Given the description of an element on the screen output the (x, y) to click on. 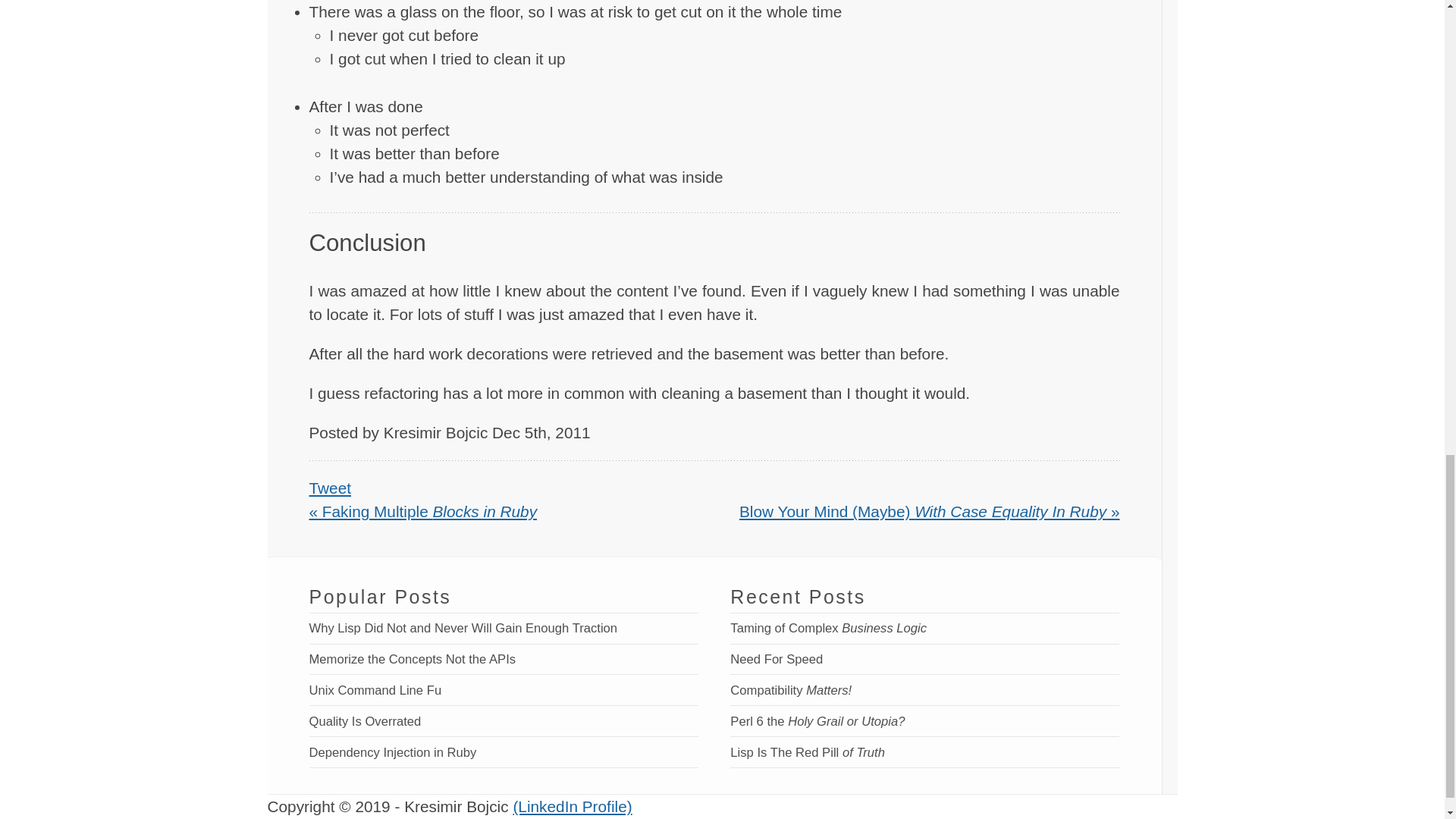
Memorize the Concepts Not the APIs (412, 658)
Quality Is Overrated (365, 721)
Tweet (330, 487)
Need For Speed (776, 658)
Dependency Injection in Ruby (392, 752)
Compatibility Matters! (790, 690)
Lisp Is The Red Pill of Truth (807, 752)
Why Lisp Did Not and Never Will Gain Enough Traction (462, 627)
Unix Command Line Fu (375, 690)
Perl 6 the Holy Grail or Utopia? (817, 721)
